Given the description of an element on the screen output the (x, y) to click on. 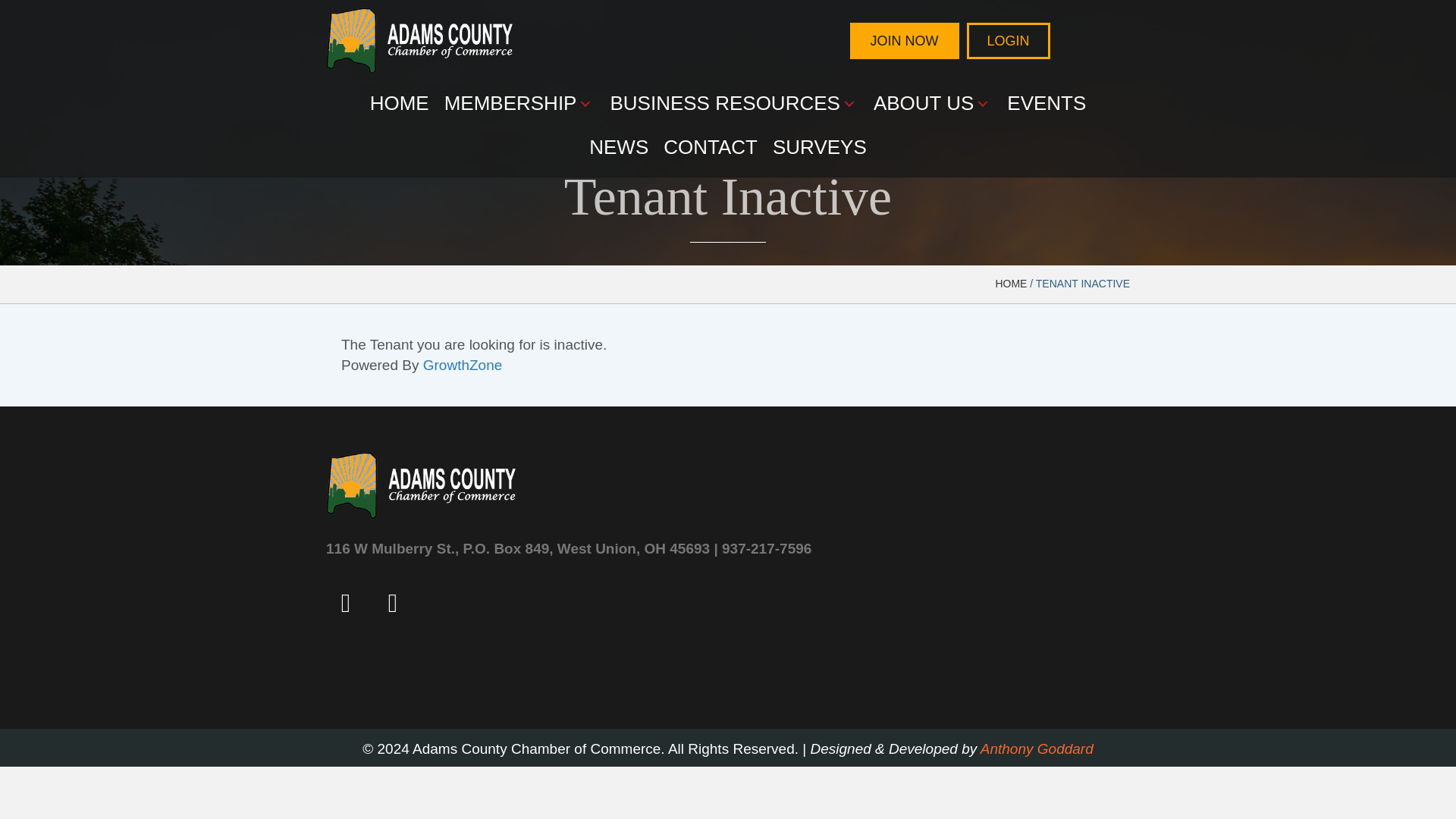
ABOUT US (932, 103)
HOME (1010, 283)
CONTACT (710, 147)
HOME (399, 103)
LOGIN (1007, 40)
MEMBERSHIP (519, 103)
EVENTS (1045, 103)
NEWS (618, 147)
BUSINESS RESOURCES (733, 103)
Facebook (345, 602)
